Given the description of an element on the screen output the (x, y) to click on. 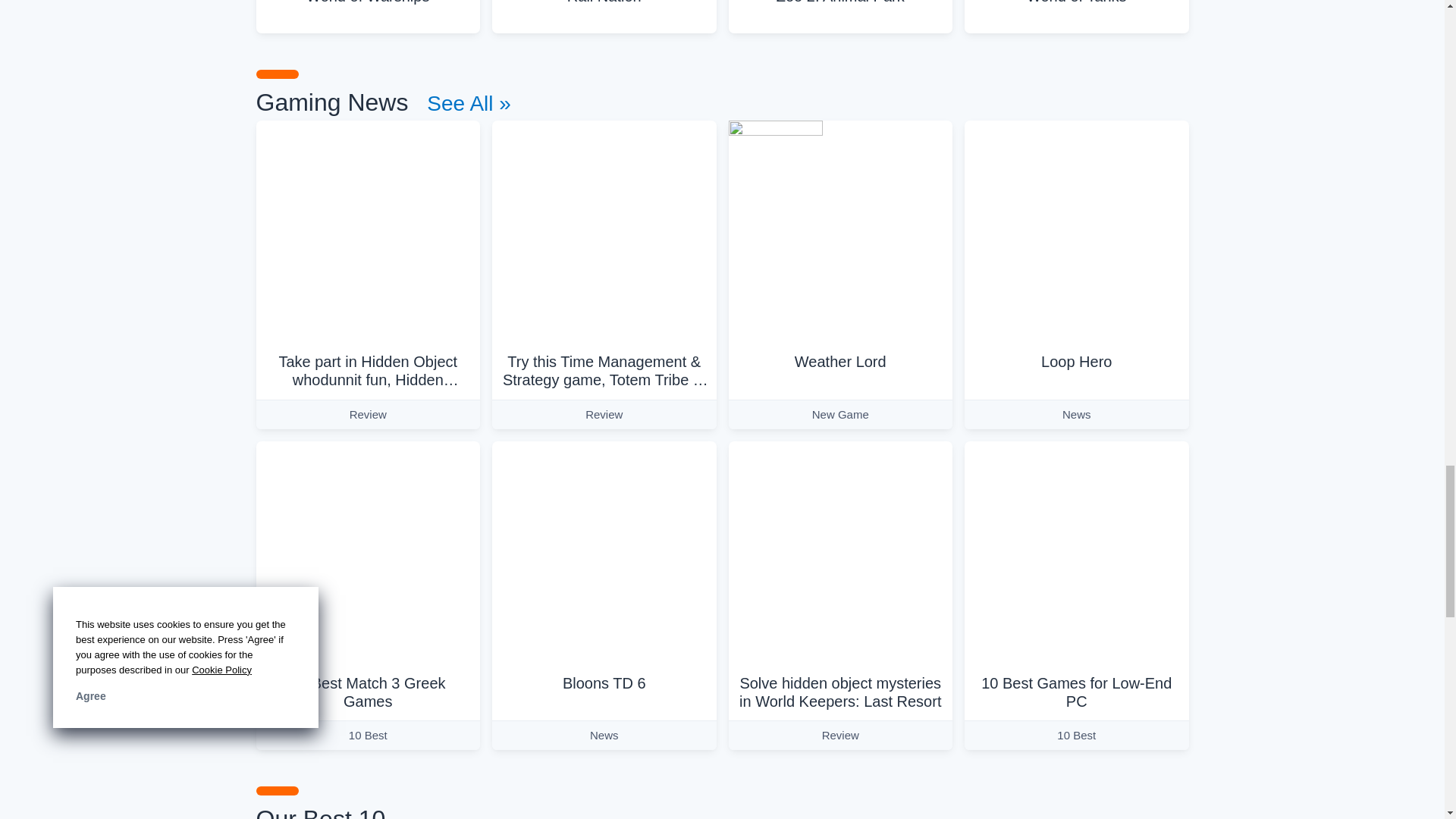
Loop Hero (1076, 232)
10 Best Match 3 Greek Games (368, 553)
Weather Lord (840, 232)
Solve hidden object mysteries in World Keepers: Last Resort (840, 553)
Bloons TD 6 (604, 553)
